Given the description of an element on the screen output the (x, y) to click on. 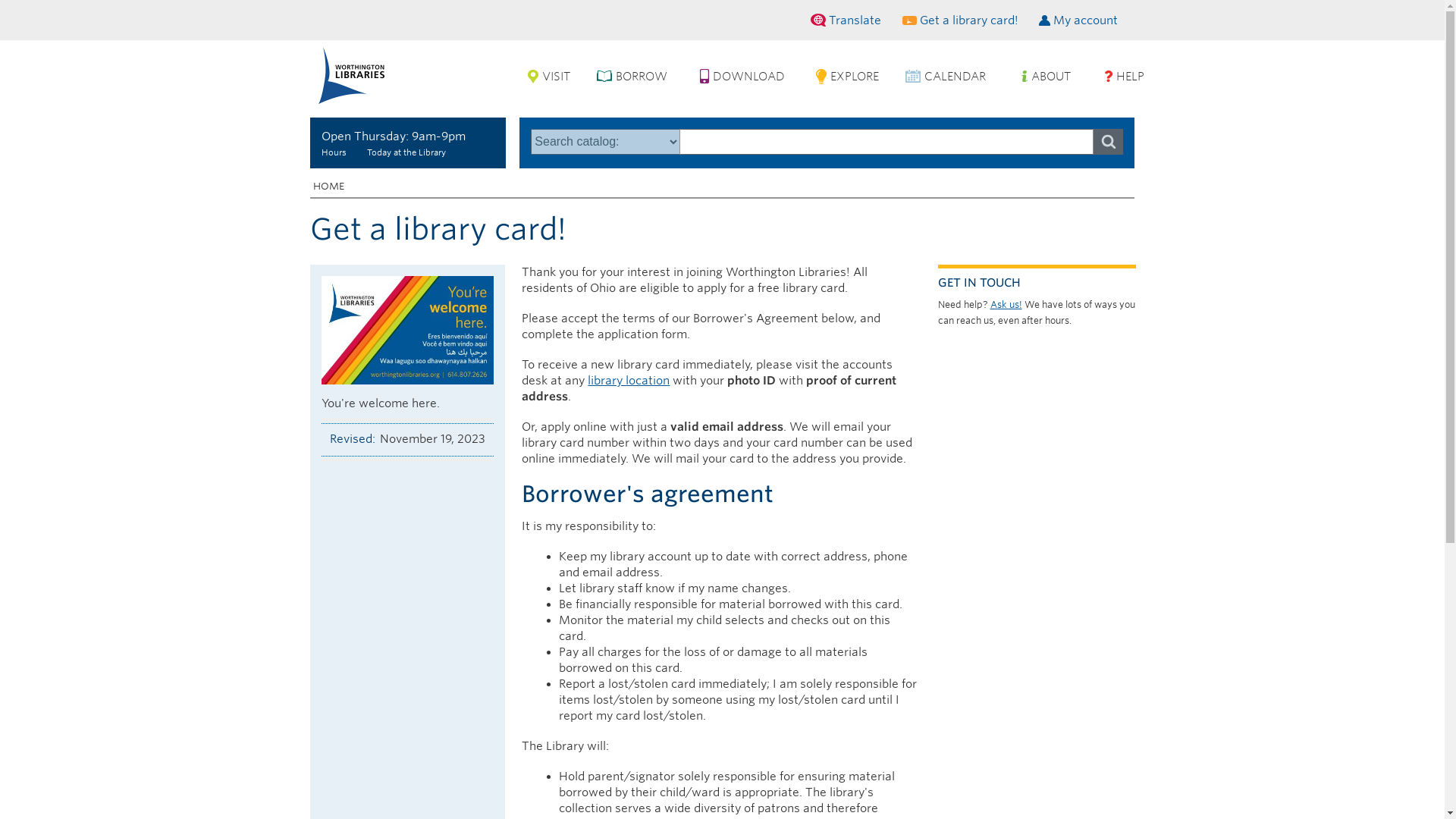
Translate (848, 20)
EXPLORE (854, 76)
go (1107, 141)
Home (351, 75)
DOWNLOAD (749, 76)
My account (1078, 21)
VISIT (555, 76)
Get a library card! (962, 21)
BORROW (641, 76)
